Given the description of an element on the screen output the (x, y) to click on. 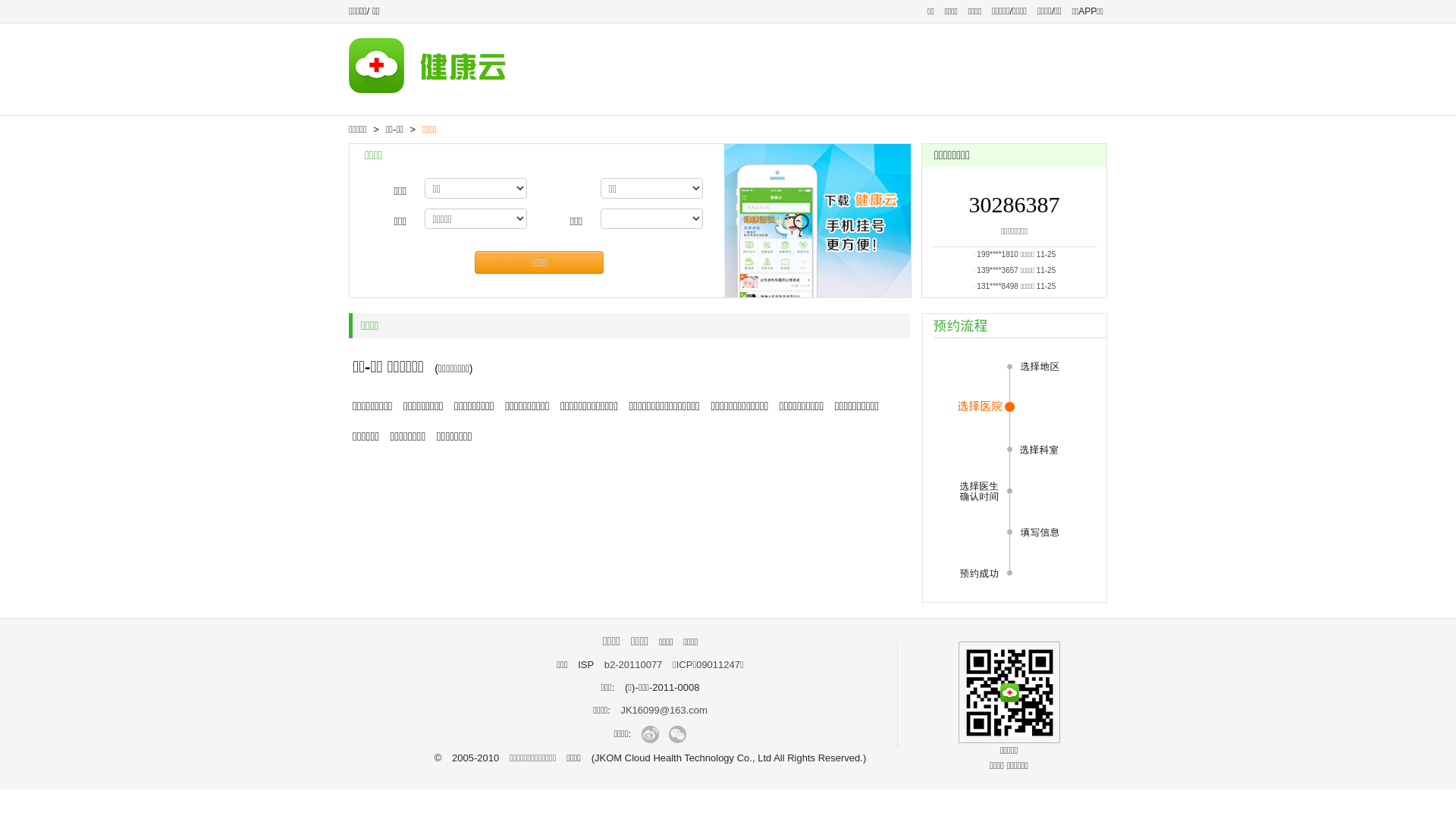
JK16099@163.com Element type: text (663, 709)
b2-20110077 Element type: text (633, 664)
